Given the description of an element on the screen output the (x, y) to click on. 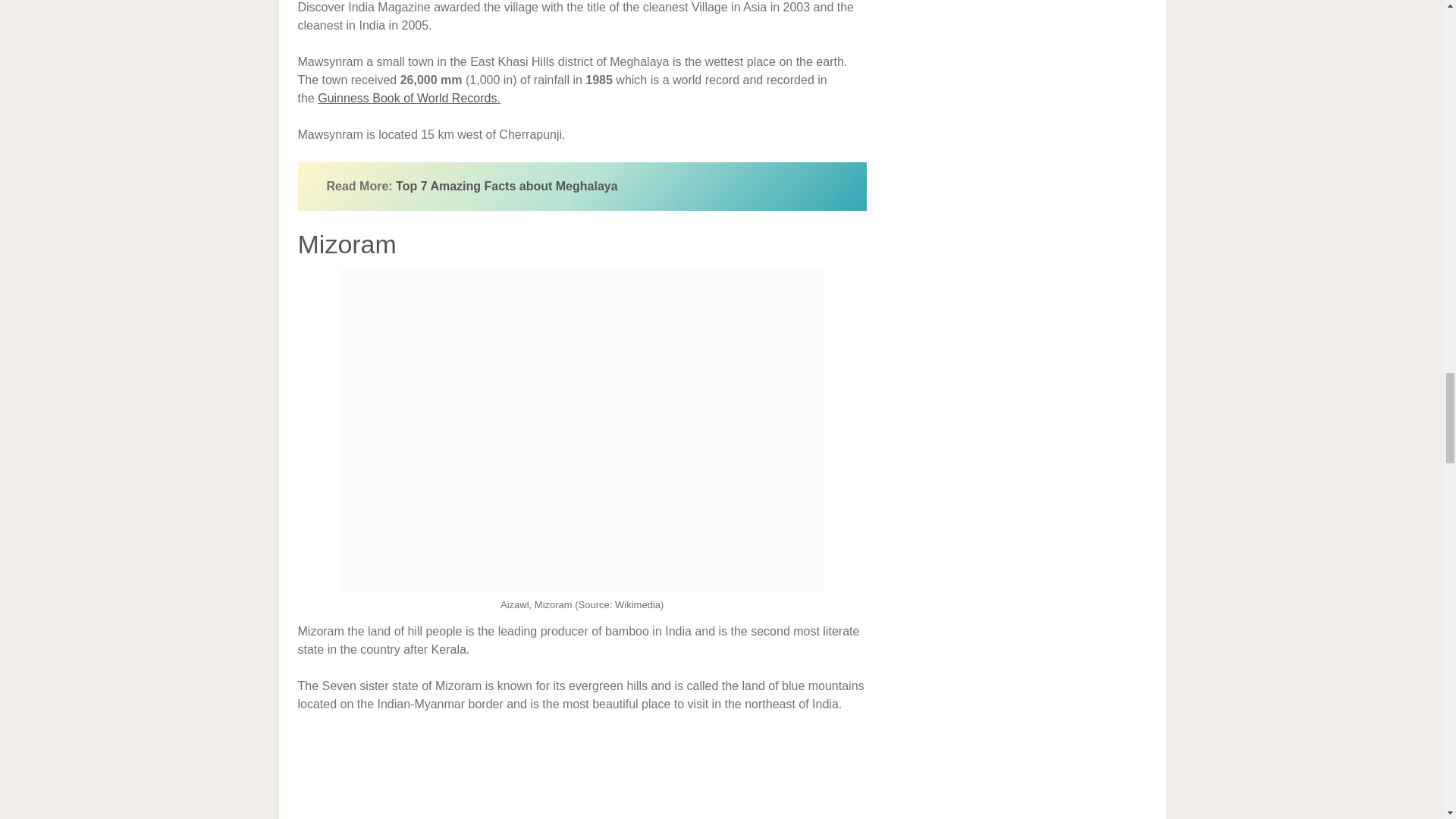
Top 7 Amazing Facts about Meghalaya (506, 185)
Guinness Book of World Records (406, 97)
